Given the description of an element on the screen output the (x, y) to click on. 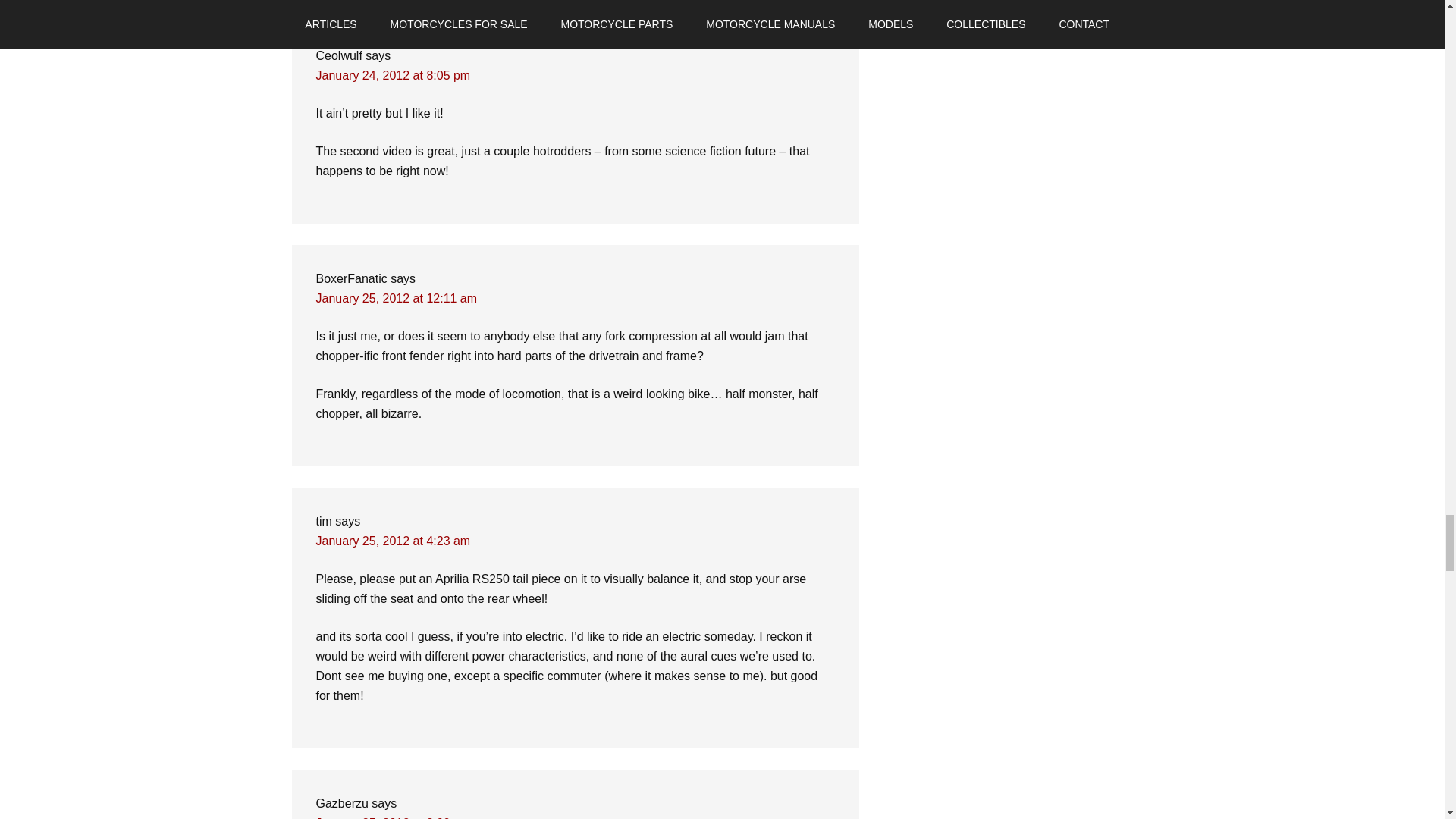
January 25, 2012 at 4:23 am (392, 540)
January 25, 2012 at 8:09 am (392, 817)
January 25, 2012 at 12:11 am (396, 297)
January 24, 2012 at 8:05 pm (392, 74)
